Given the description of an element on the screen output the (x, y) to click on. 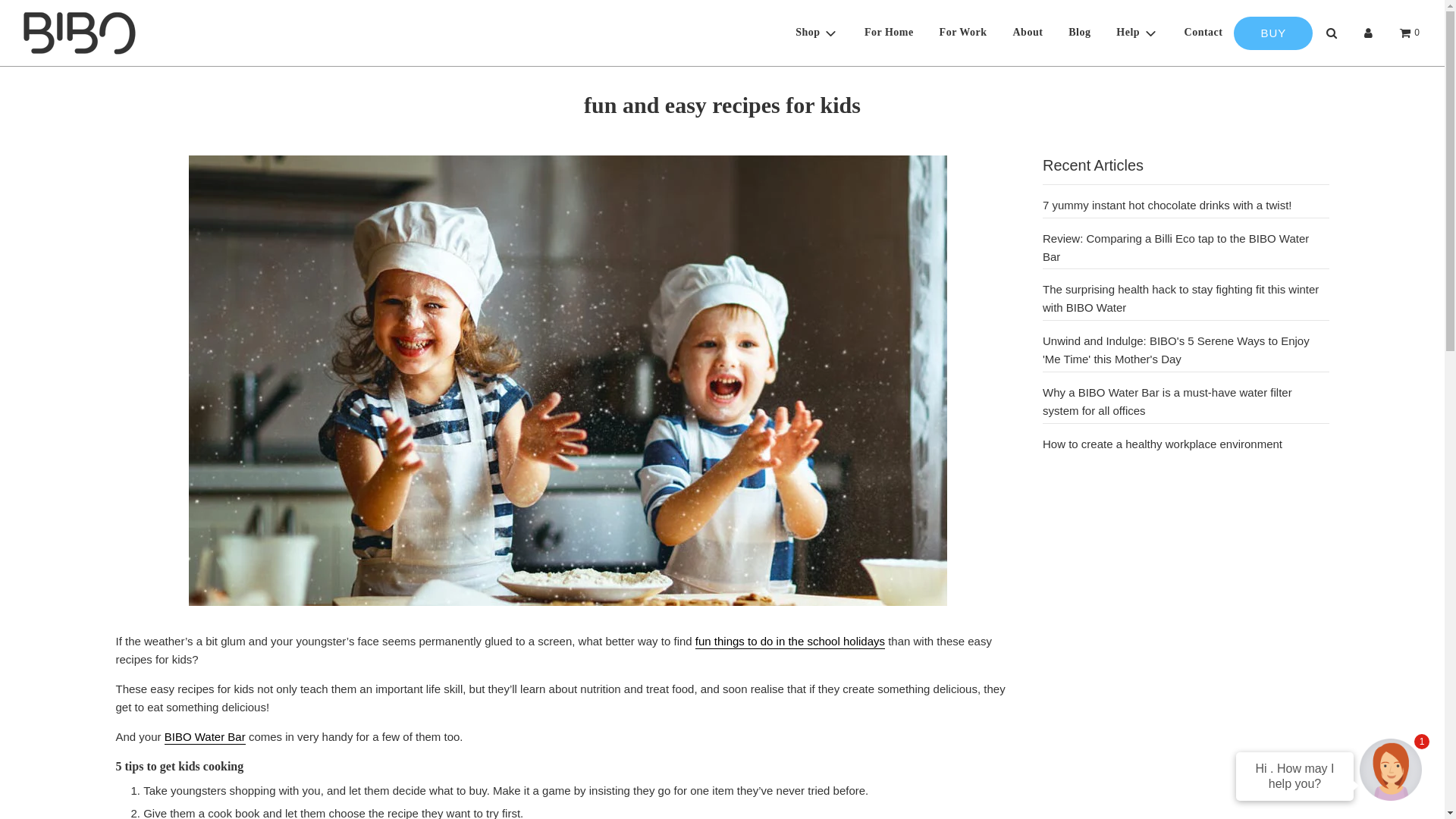
Log in (1368, 32)
